Given the description of an element on the screen output the (x, y) to click on. 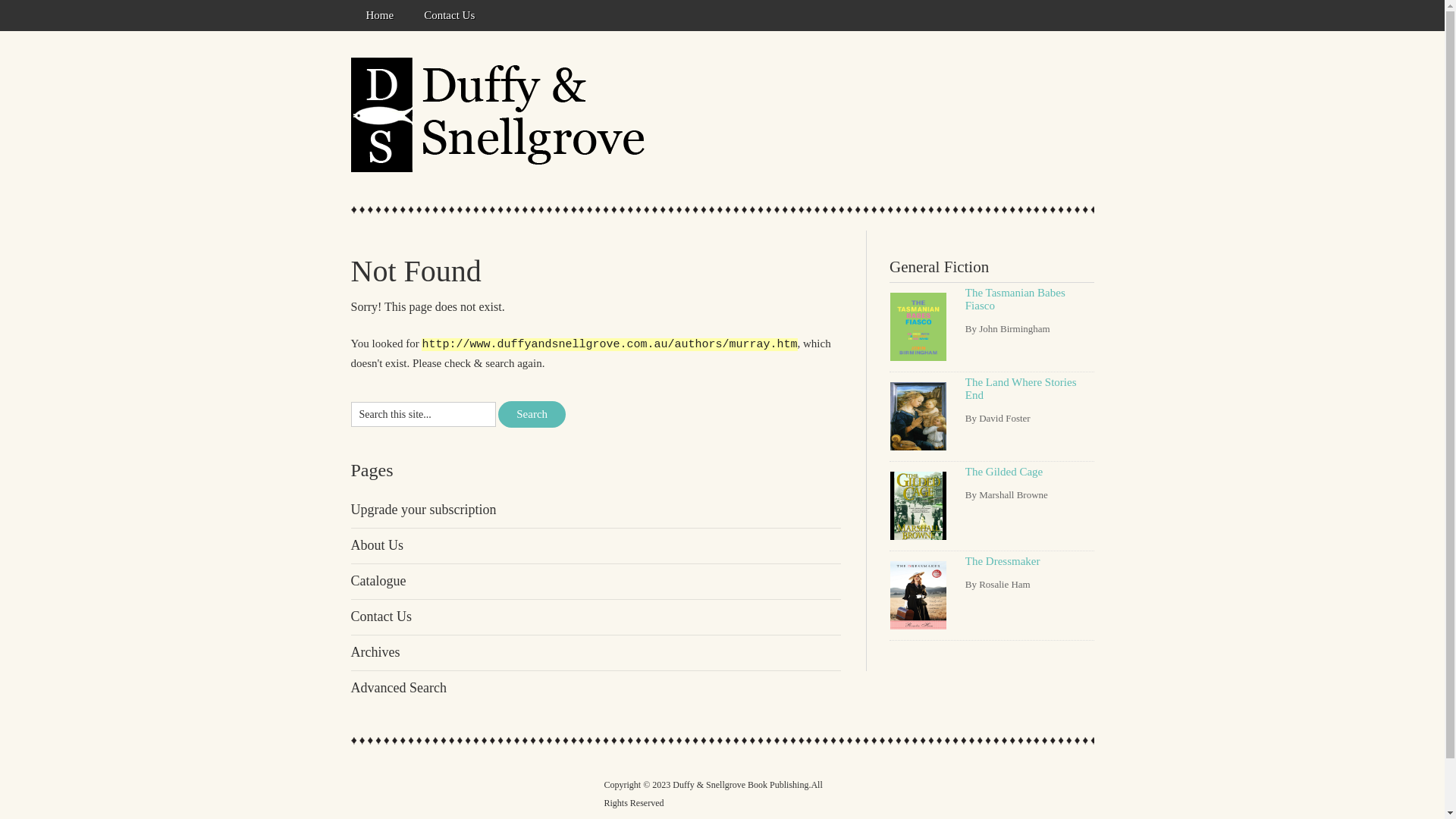
Contact Us Element type: text (448, 15)
Home Element type: text (379, 15)
Catalogue Element type: text (377, 580)
The Gilded Cage Element type: text (1003, 471)
Duffy & Snellgrove Book Publishing Element type: hover (501, 114)
The Tasmanian Babes Fiasco Element type: text (1015, 298)
The Land Where Stories End Element type: hover (918, 416)
The Tasmanian Babes Fiasco Element type: hover (918, 326)
The Dressmaker Element type: text (1002, 561)
Upgrade your subscription Element type: text (422, 509)
Duffy & Snellgrove Book Publishing Element type: text (740, 784)
Advanced Search Element type: text (397, 687)
The Gilded Cage Element type: hover (918, 505)
The Dressmaker Element type: hover (918, 595)
Search Element type: text (531, 414)
Contact Us Element type: text (380, 616)
Archives Element type: text (374, 651)
About Us Element type: text (376, 544)
The Land Where Stories End Element type: text (1020, 388)
